Given the description of an element on the screen output the (x, y) to click on. 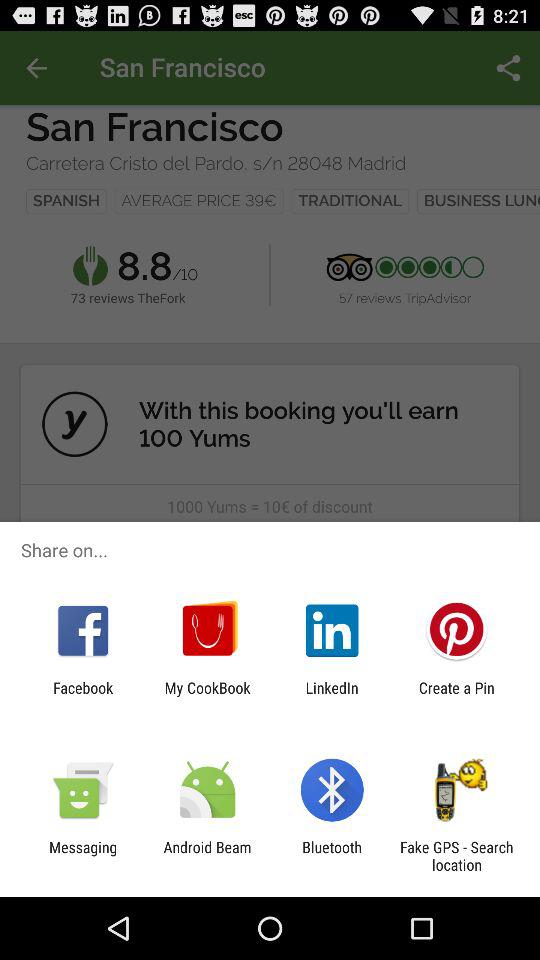
flip until android beam (207, 856)
